Given the description of an element on the screen output the (x, y) to click on. 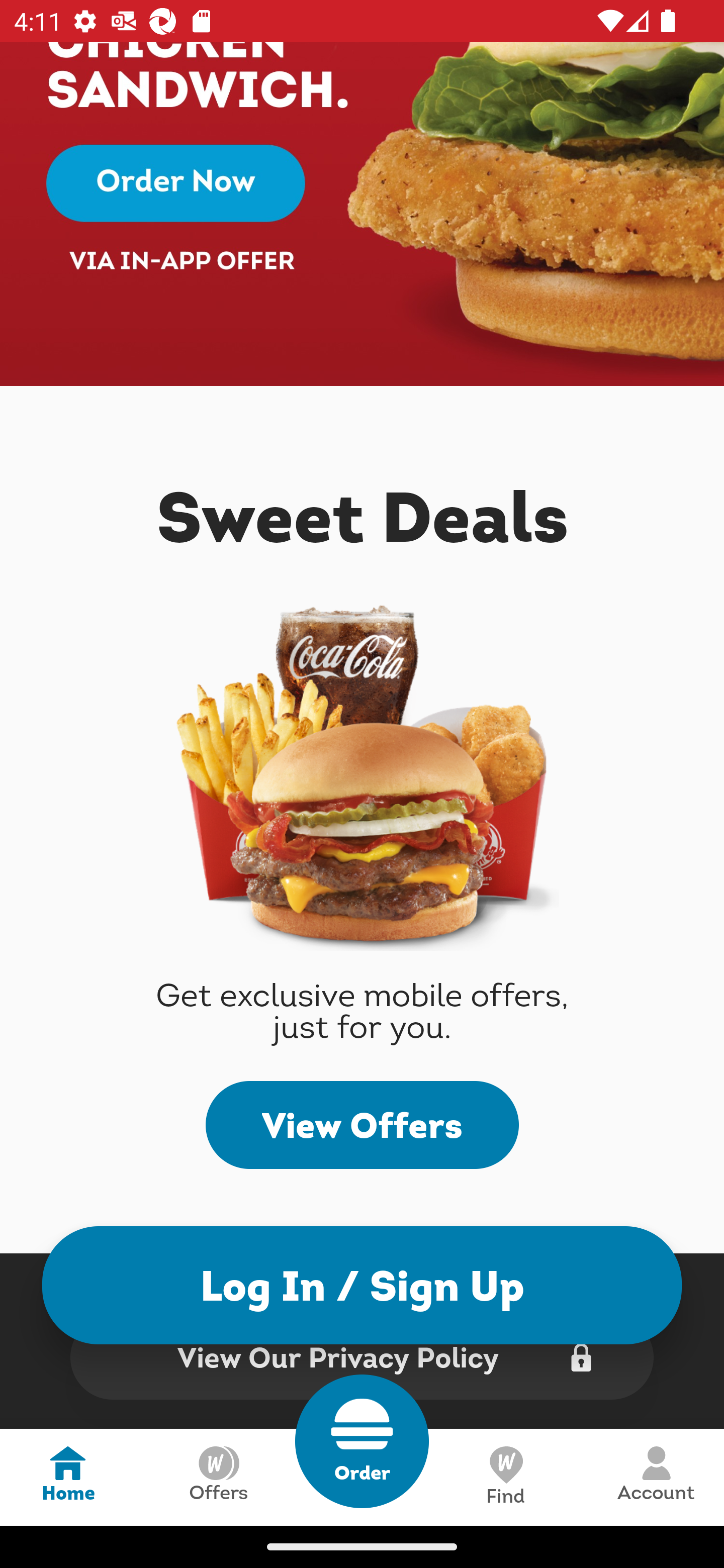
Campaign image (362, 213)
View Offers (362, 1124)
Log In / Sign Up (361, 1284)
Order,3 of 5 Order (361, 1441)
Home,1 of 5 Home (68, 1476)
Rewards,2 of 5 Offers Offers (218, 1476)
Scan,4 of 5 Find Find (505, 1476)
Account,5 of 5 Account (655, 1476)
